Given the description of an element on the screen output the (x, y) to click on. 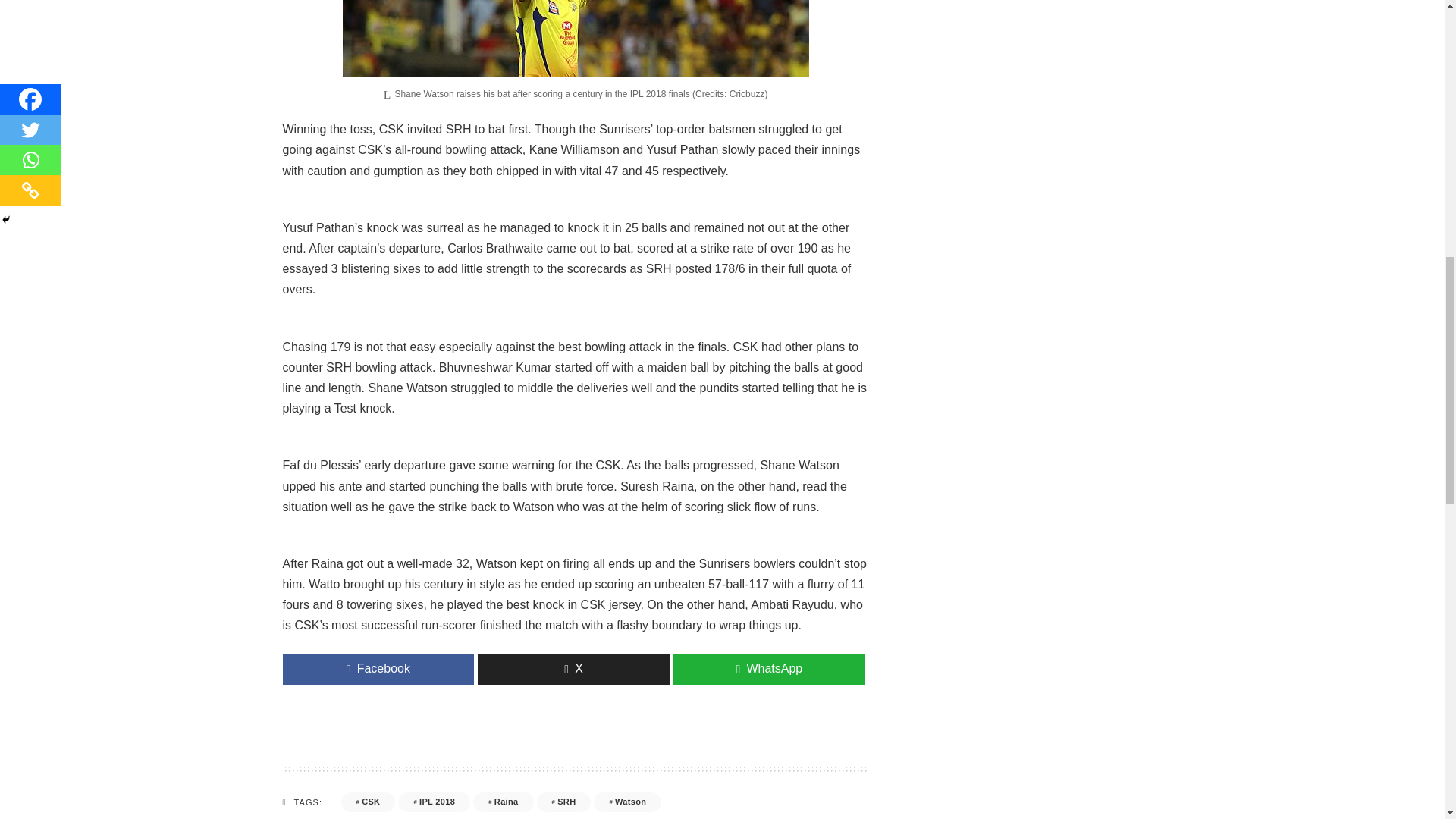
CSK (368, 802)
